Given the description of an element on the screen output the (x, y) to click on. 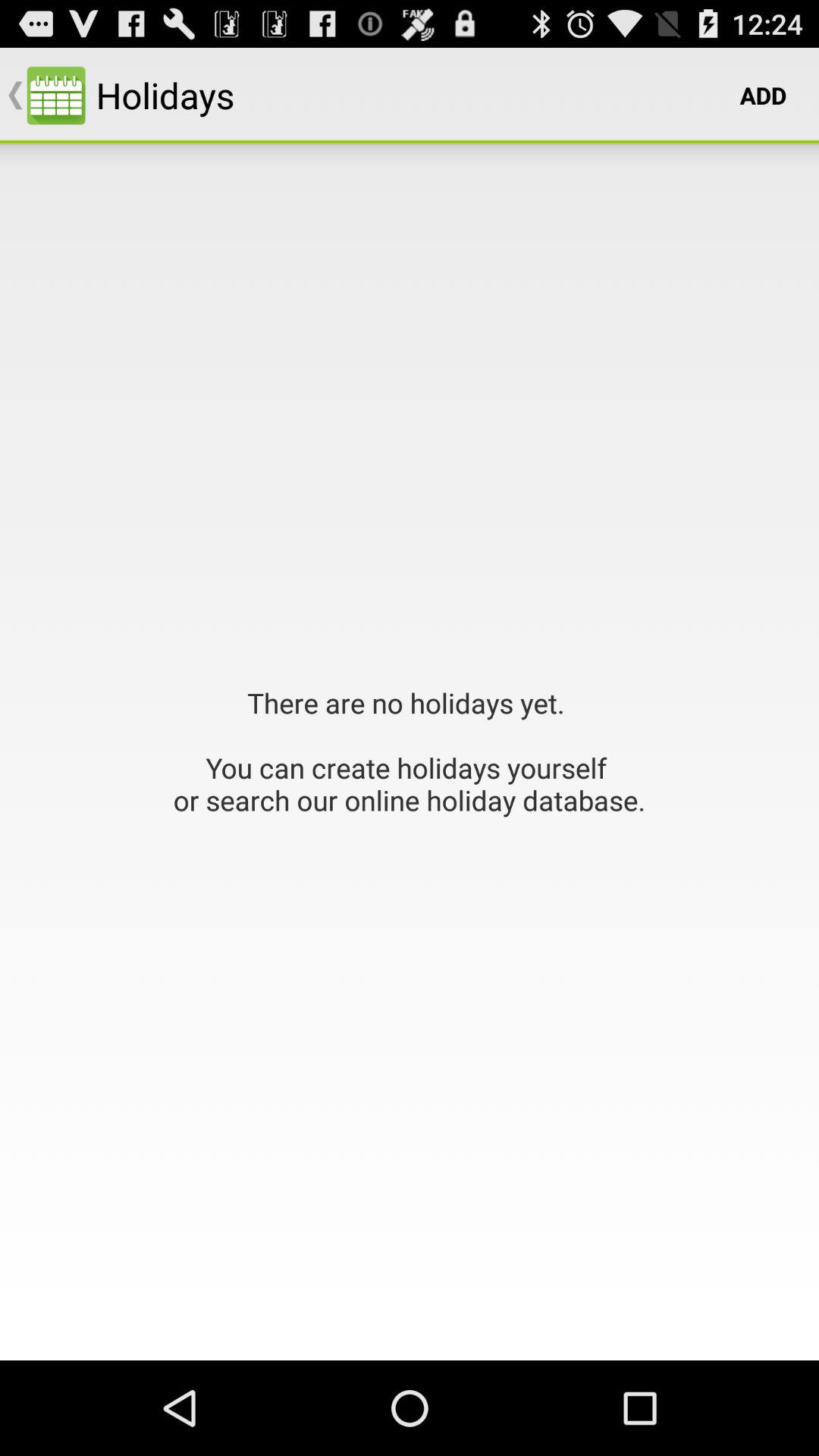
launch icon at the top right corner (763, 95)
